Given the description of an element on the screen output the (x, y) to click on. 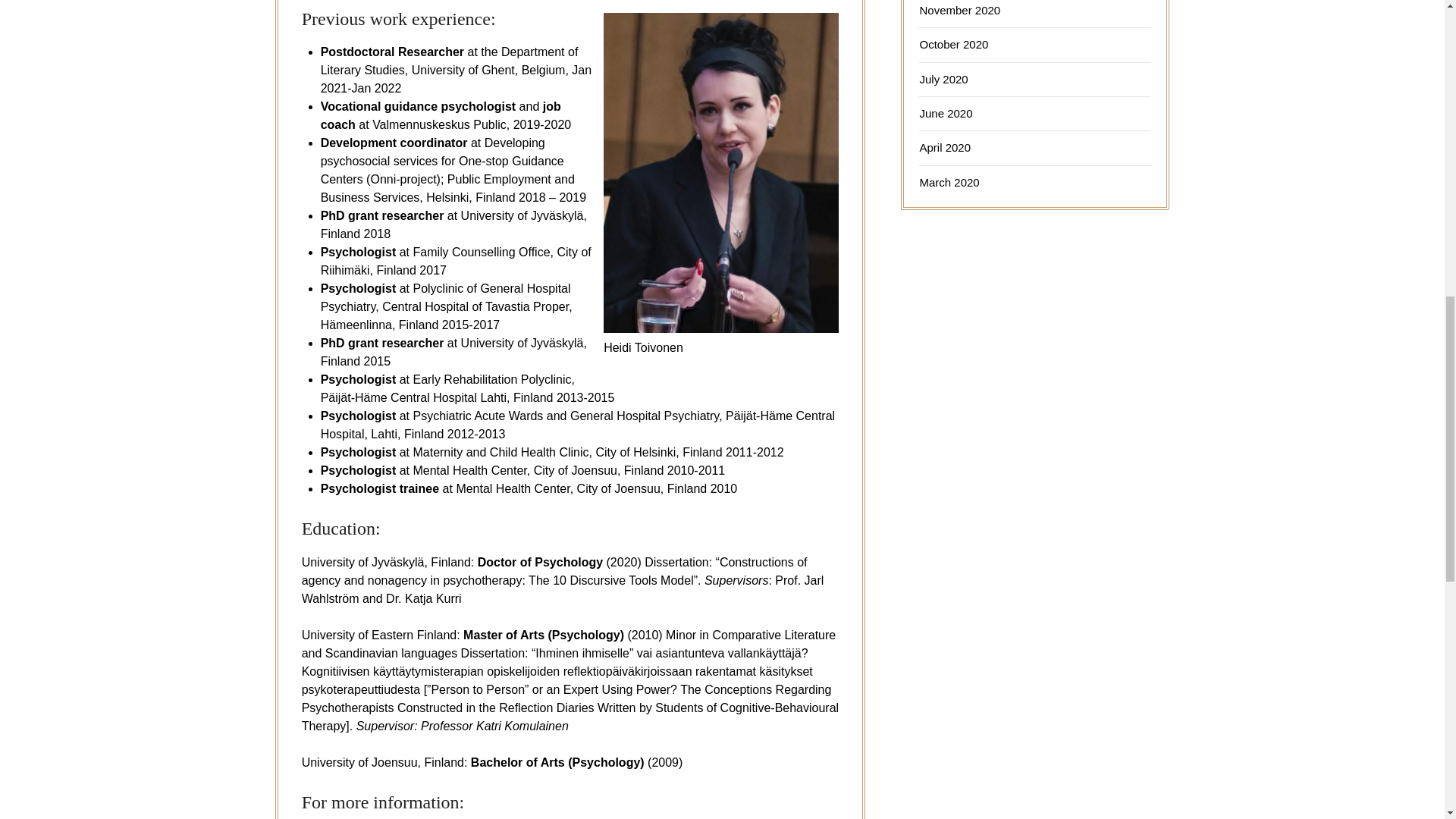
October 2020 (953, 43)
November 2020 (959, 10)
July 2020 (943, 78)
